Given the description of an element on the screen output the (x, y) to click on. 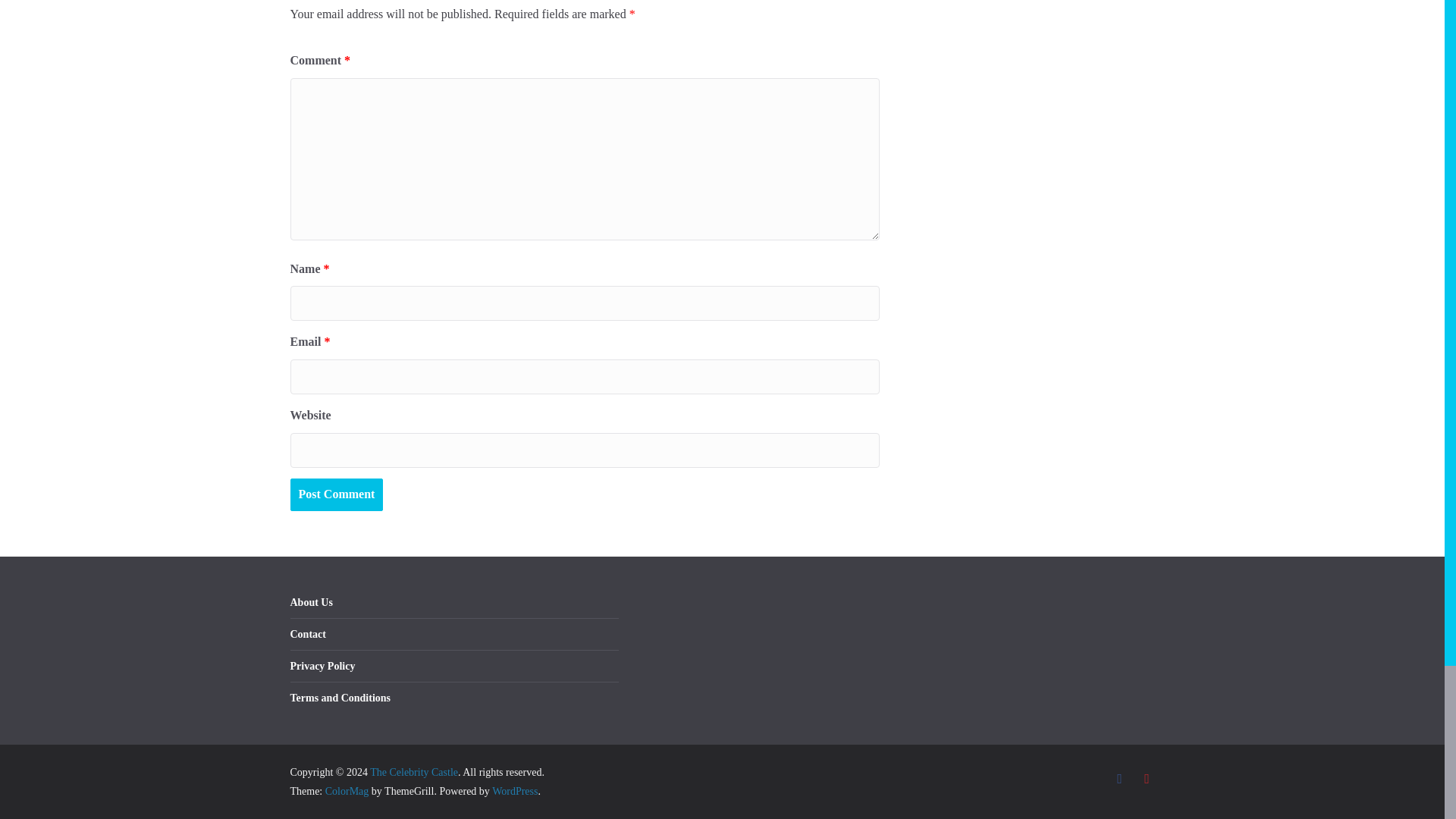
Post Comment (335, 494)
The Celebrity Castle (413, 772)
WordPress (514, 790)
Post Comment (335, 494)
ColorMag (346, 790)
